Given the description of an element on the screen output the (x, y) to click on. 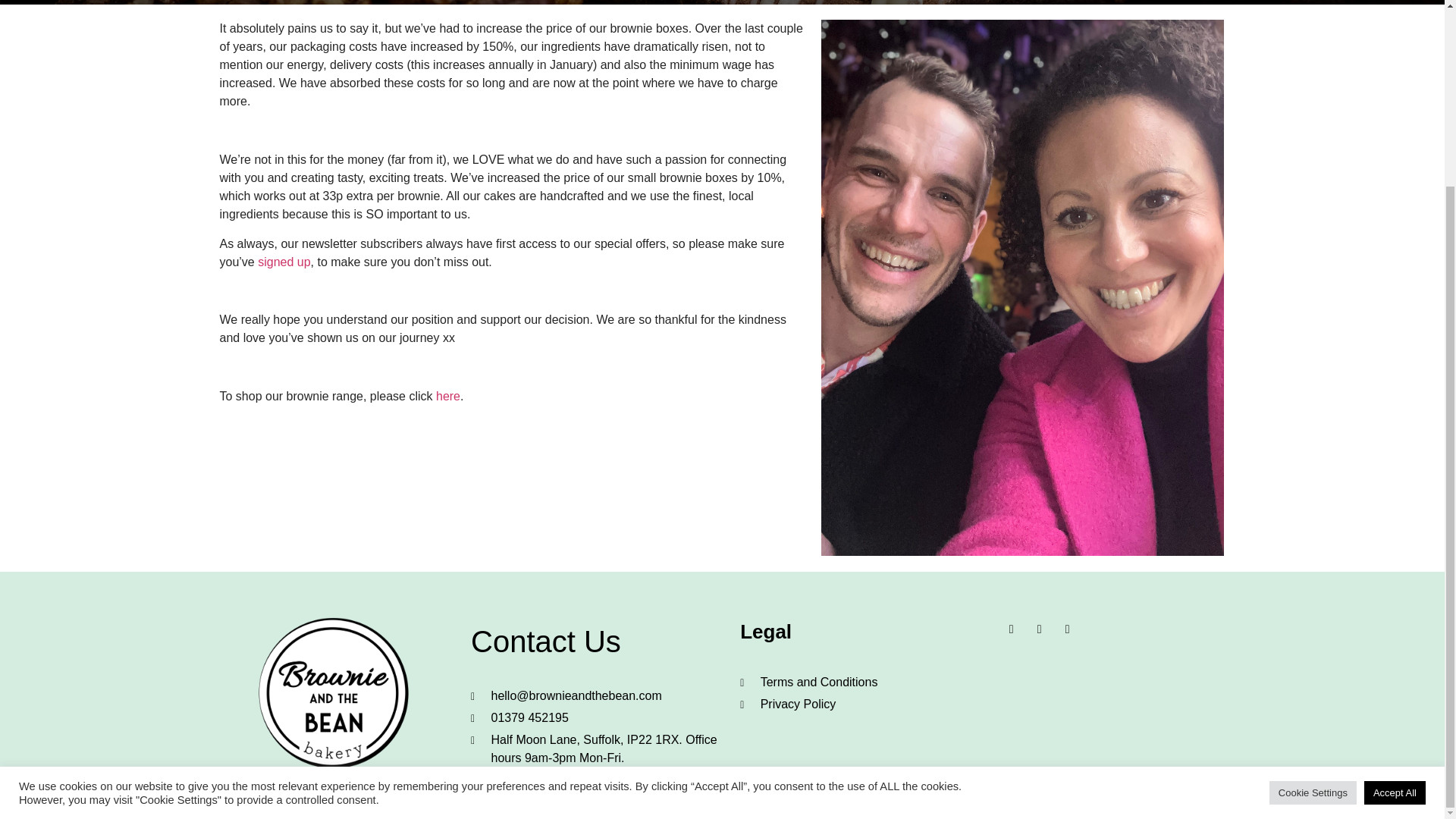
signed up (283, 261)
here (446, 395)
Terms and Conditions (861, 682)
01379 452195 (597, 718)
Privacy Policy (861, 704)
